Given the description of an element on the screen output the (x, y) to click on. 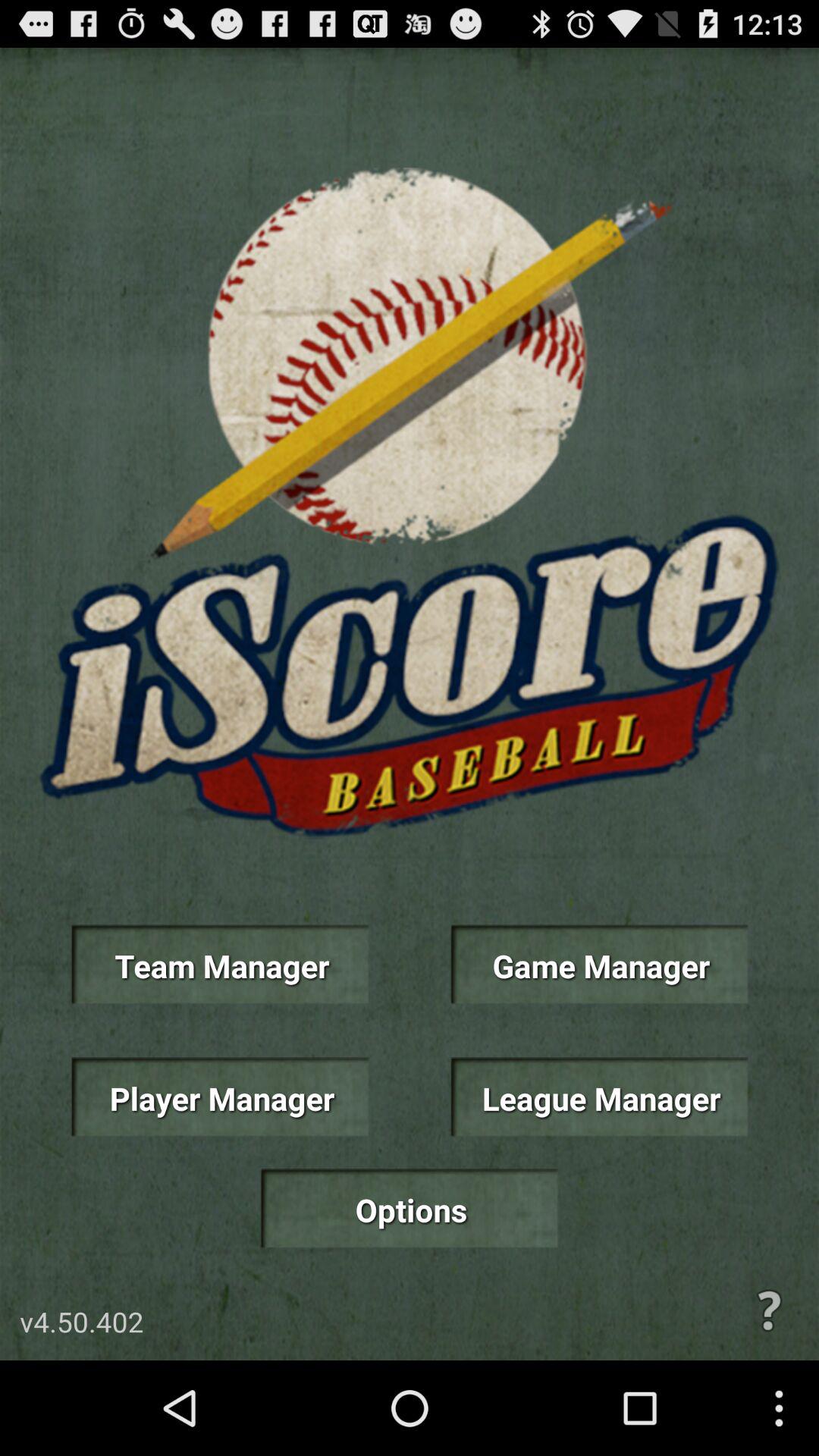
go to help (769, 1310)
